Given the description of an element on the screen output the (x, y) to click on. 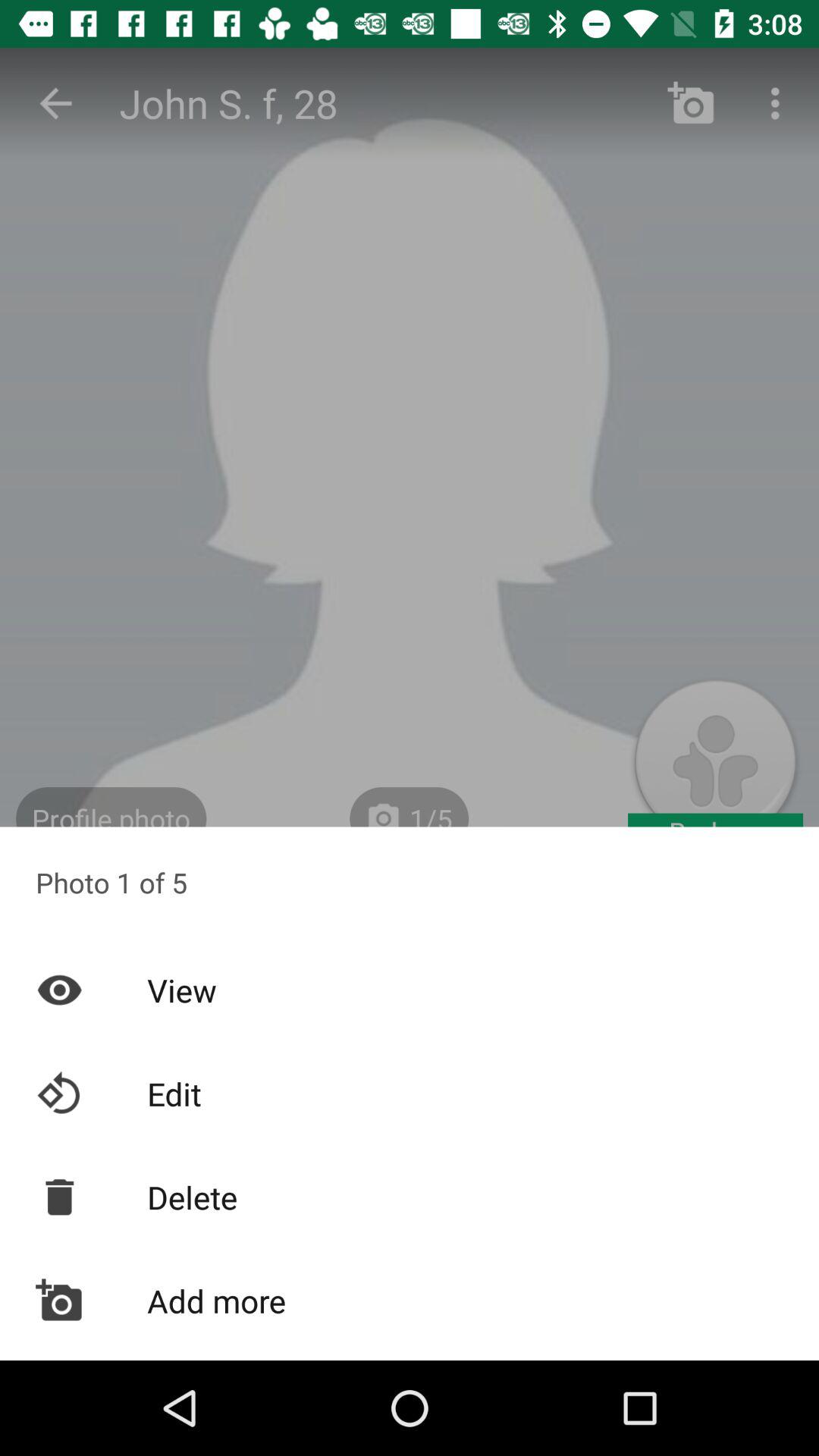
press icon above delete item (409, 1093)
